Given the description of an element on the screen output the (x, y) to click on. 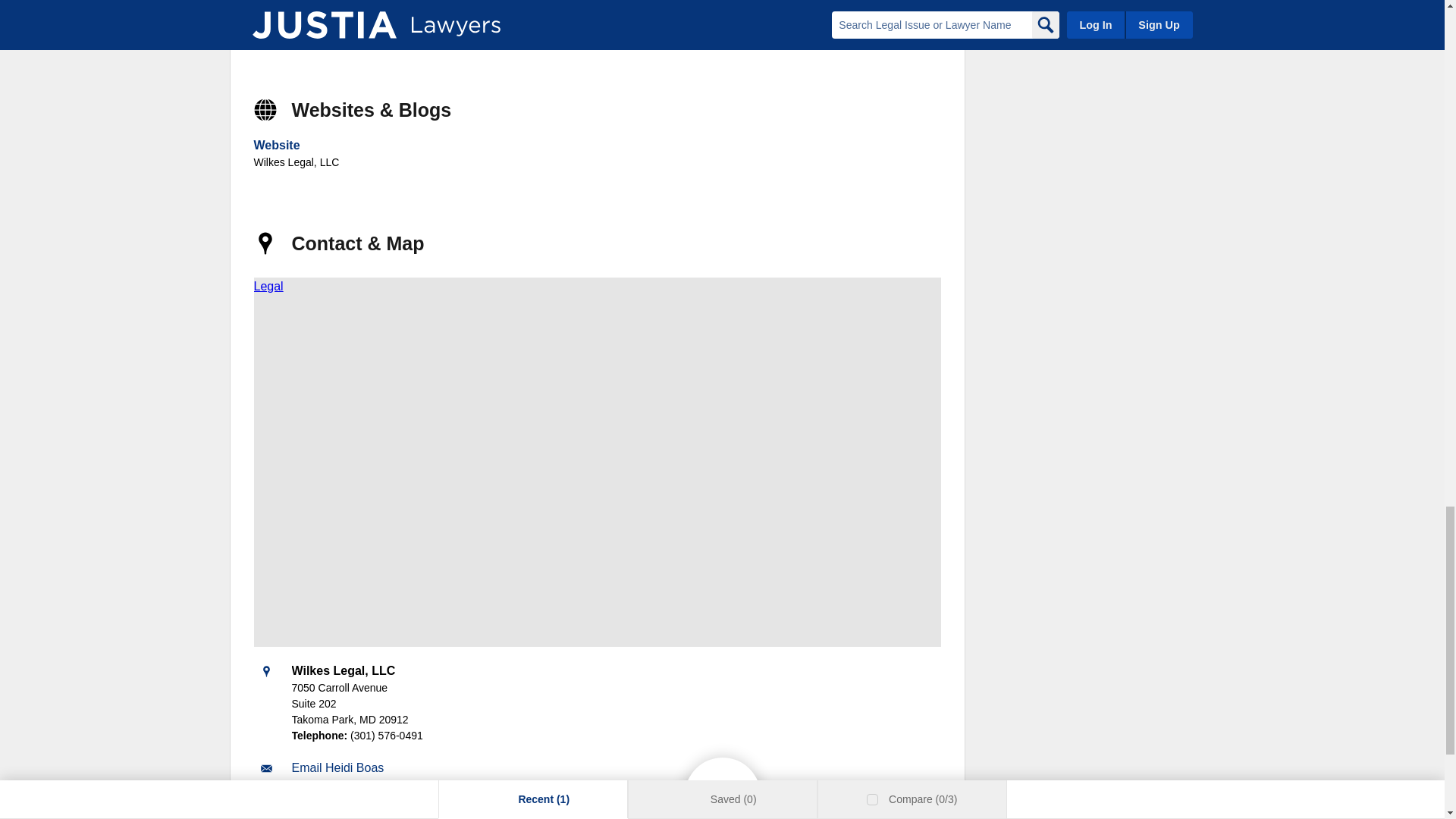
Email Heidi Boas (337, 767)
Download vCard (335, 797)
Website (276, 144)
